Given the description of an element on the screen output the (x, y) to click on. 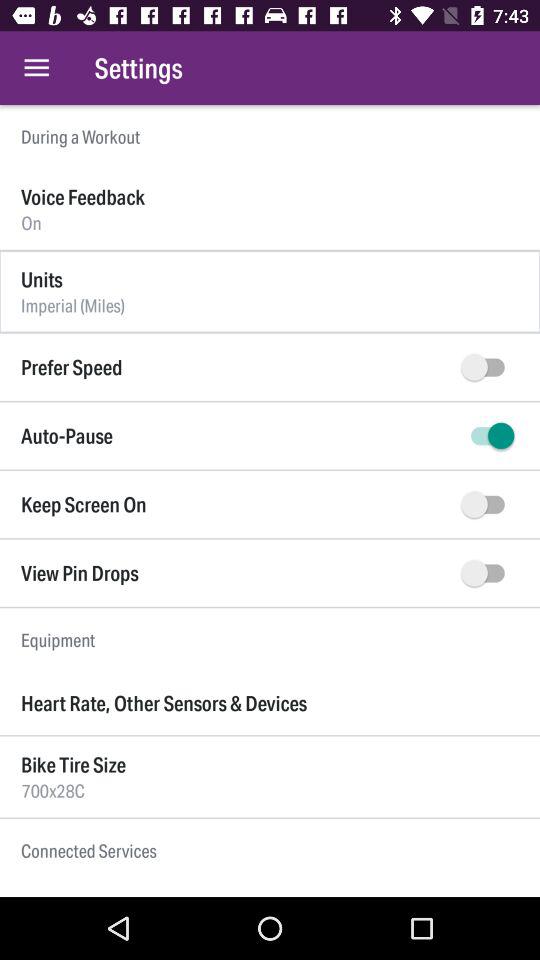
toggle viewing pin drops (487, 573)
